Given the description of an element on the screen output the (x, y) to click on. 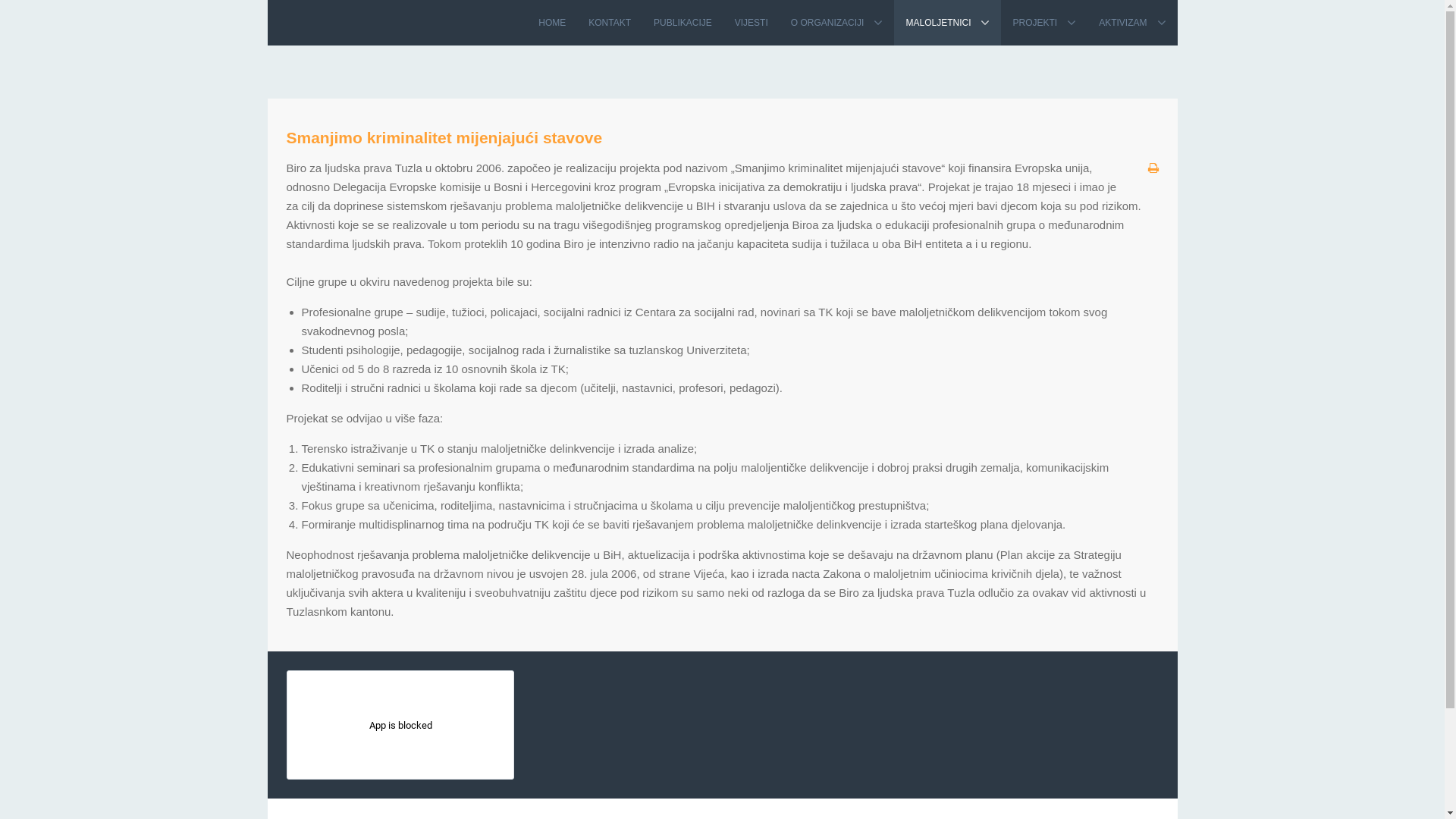
AKTIVIZAM Element type: text (1131, 22)
VIJESTI Element type: text (751, 22)
PUBLIKACIJE Element type: text (682, 22)
KONTAKT Element type: text (609, 22)
O ORGANIZACIJI Element type: text (836, 22)
MALOLJETNICI Element type: text (947, 22)
HOME Element type: text (552, 22)
PROJEKTI Element type: text (1044, 22)
